Given the description of an element on the screen output the (x, y) to click on. 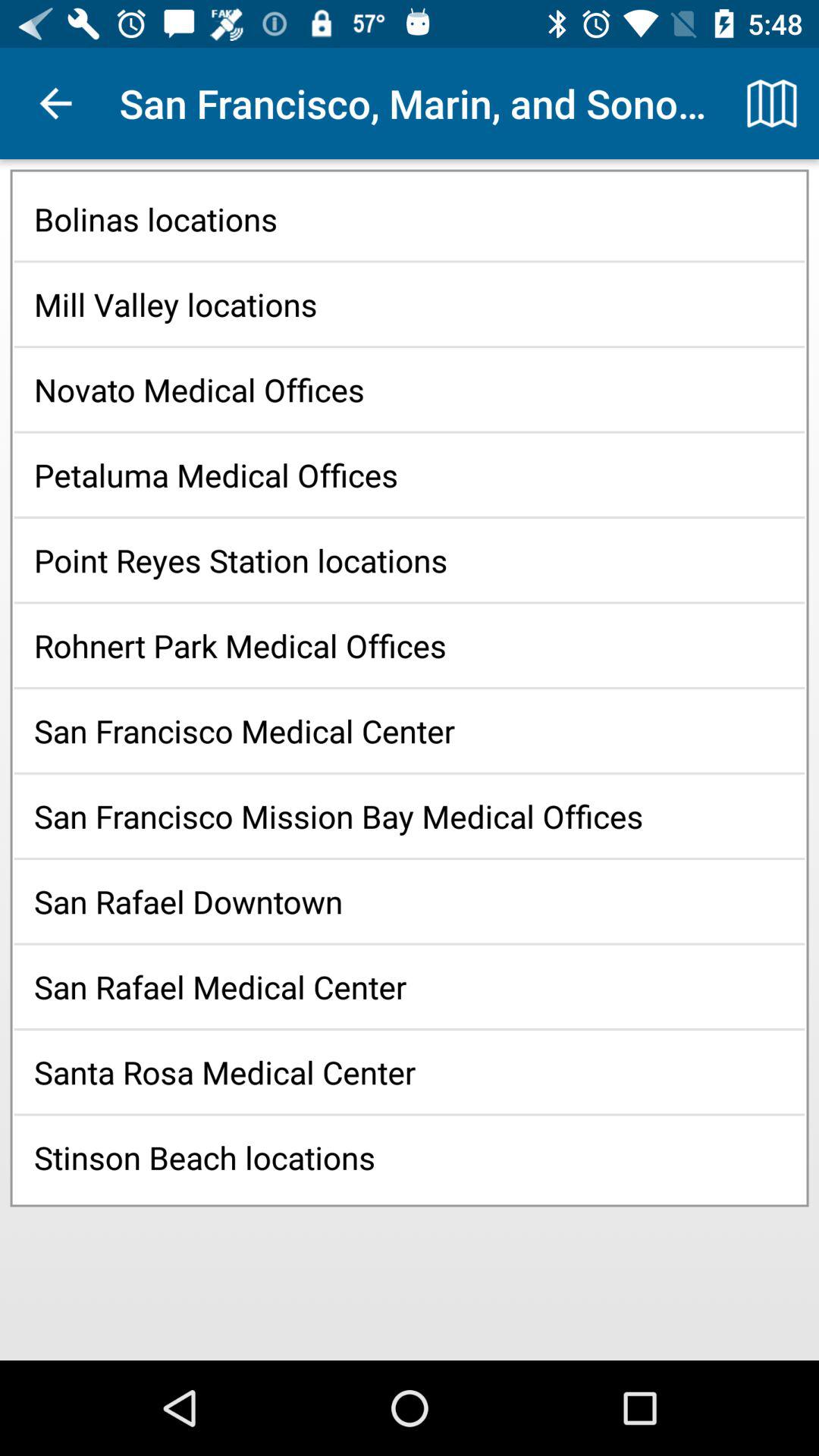
open the rohnert park medical (409, 645)
